Given the description of an element on the screen output the (x, y) to click on. 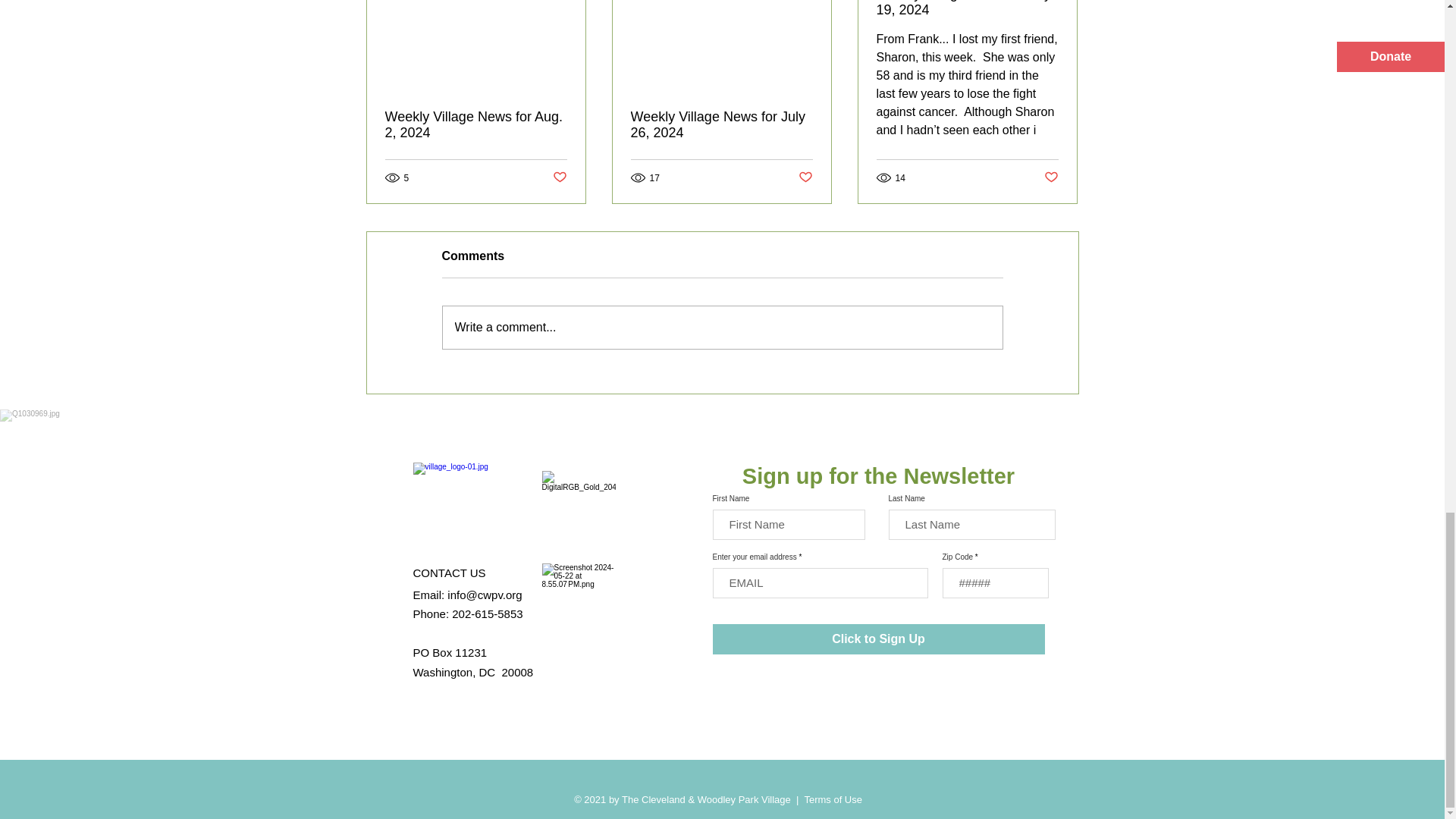
Post not marked as liked (558, 177)
Weekly Village News for Aug. 2, 2024 (476, 124)
